Given the description of an element on the screen output the (x, y) to click on. 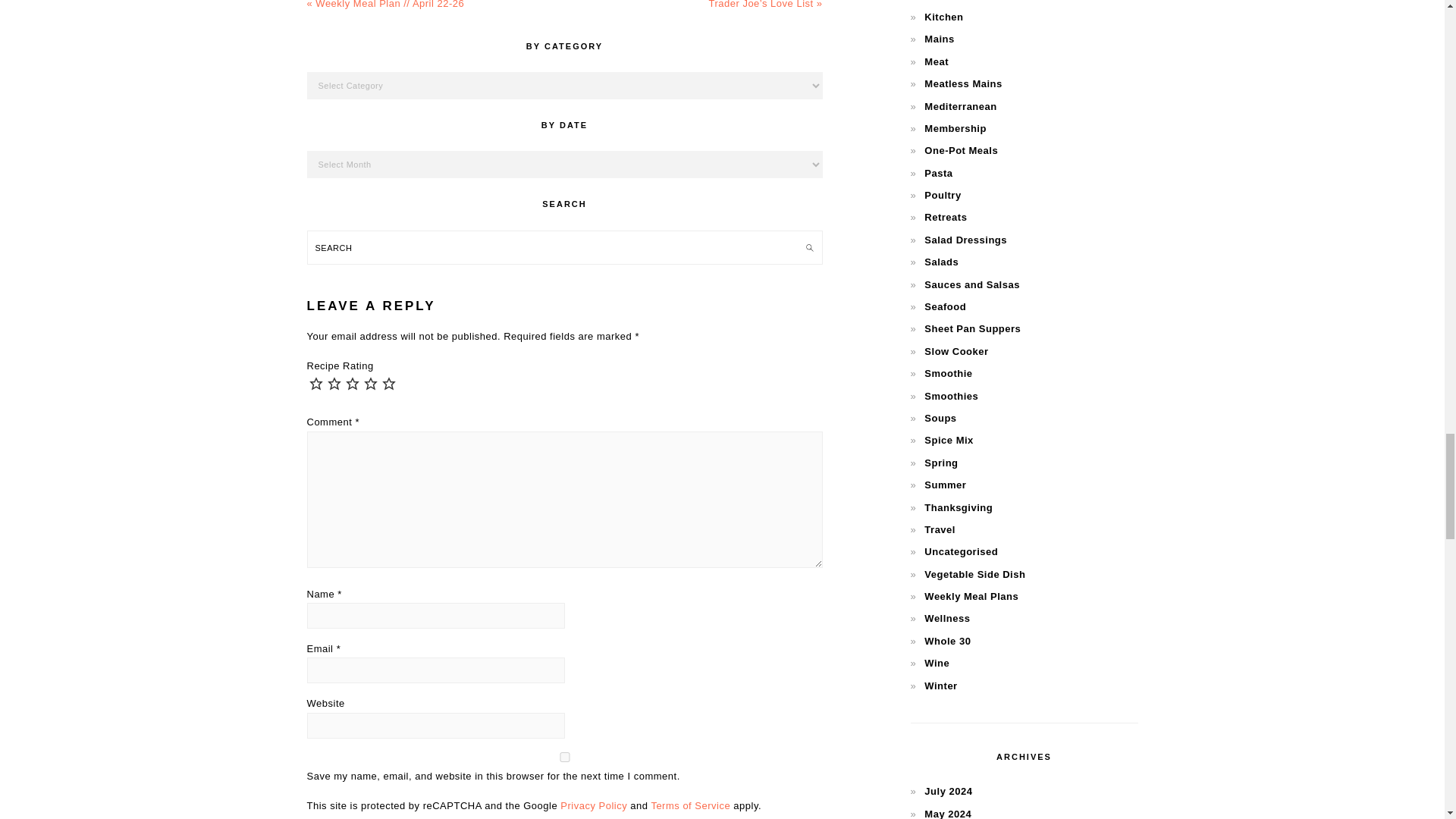
Terms of Service (690, 805)
Privacy Policy (593, 805)
yes (563, 757)
